Given the description of an element on the screen output the (x, y) to click on. 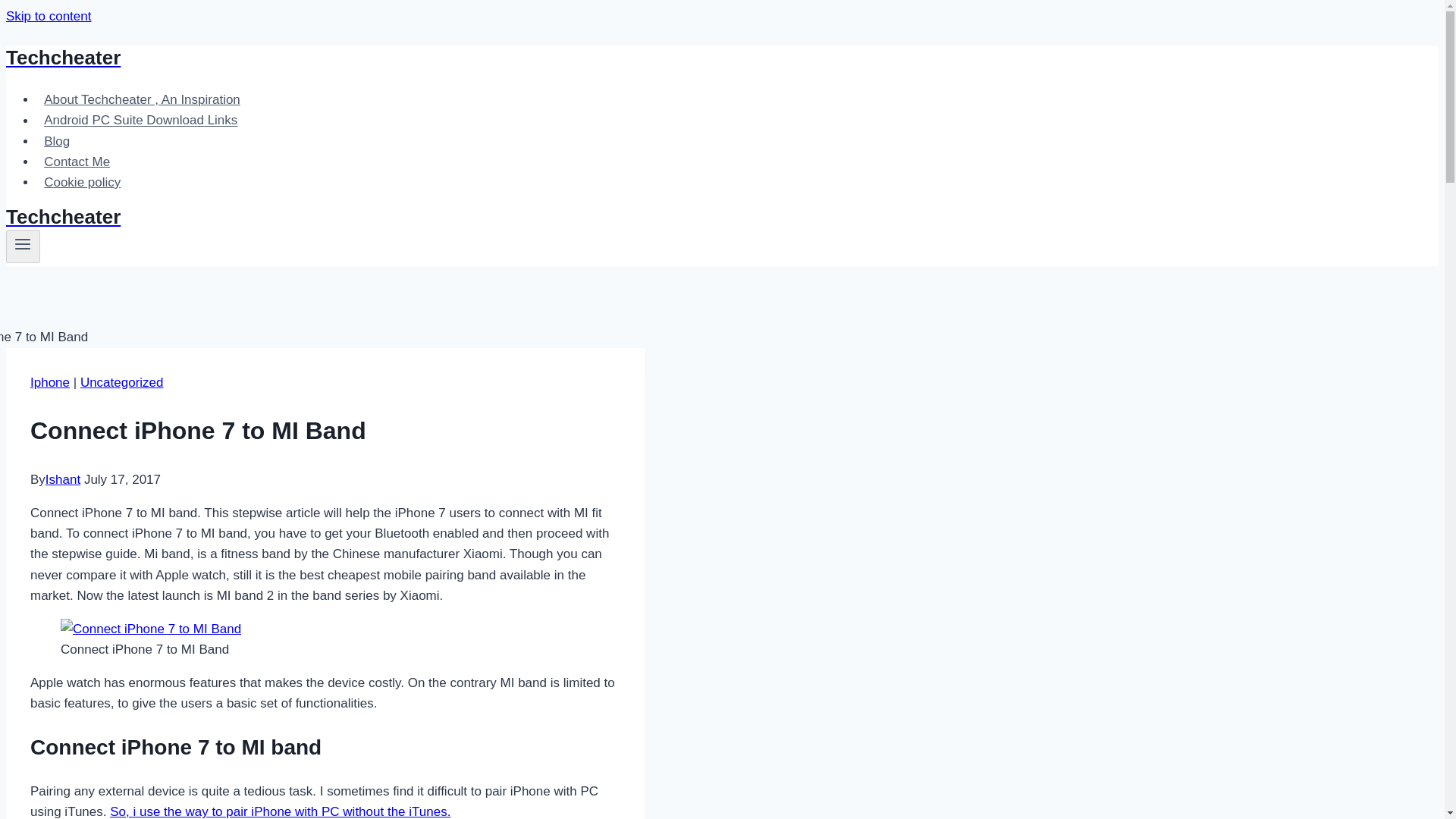
Iphone (49, 381)
Blog (56, 141)
About Techcheater , An Inspiration (141, 99)
Toggle Menu (22, 244)
So, i use the way to pair iPhone with PC without the iTunes. (279, 811)
Skip to content (47, 16)
Ishant (62, 479)
Contact Me (76, 161)
Uncategorized (121, 381)
Techcheater (494, 217)
